Given the description of an element on the screen output the (x, y) to click on. 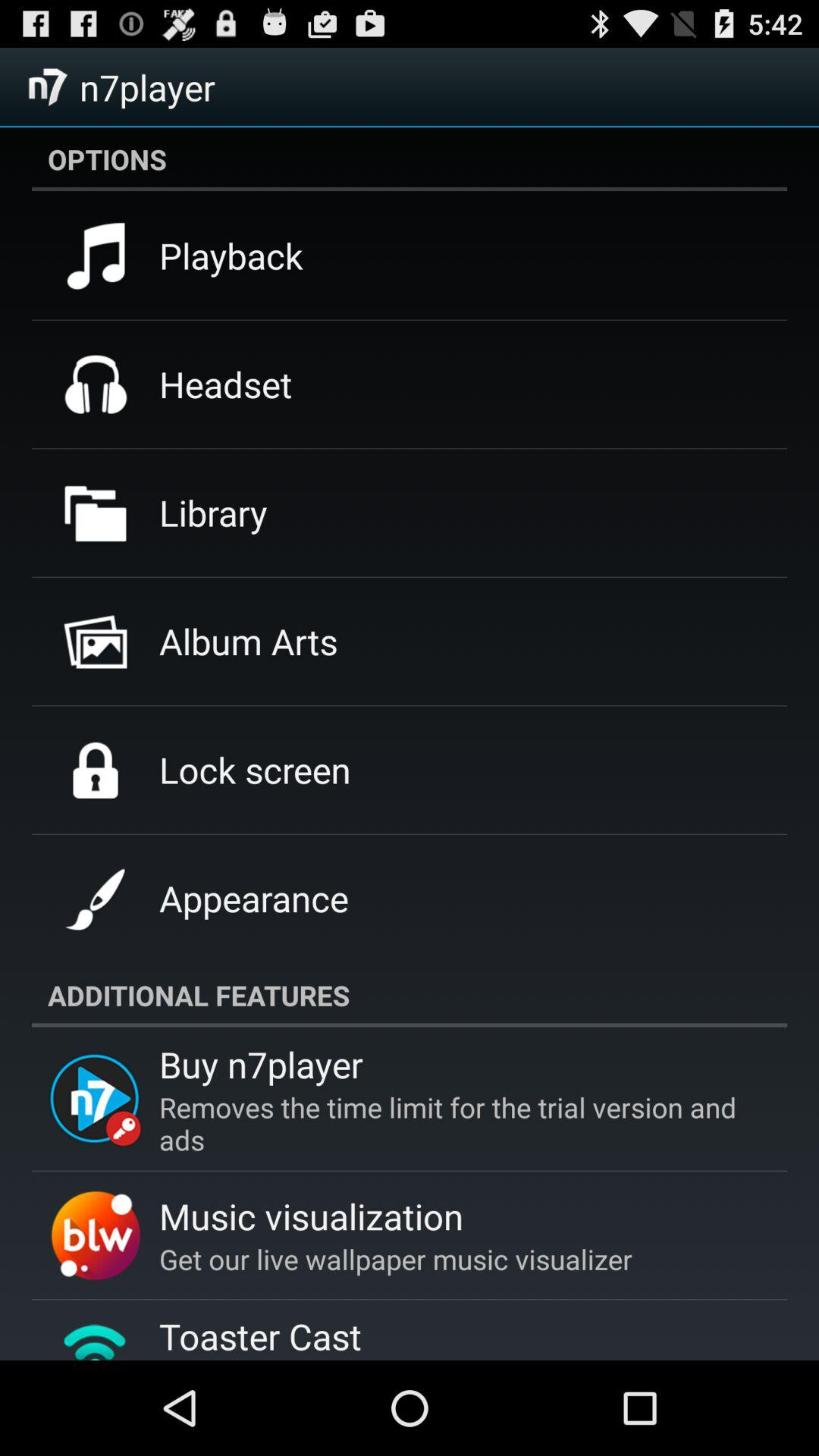
jump to the removes the time icon (455, 1123)
